Given the description of an element on the screen output the (x, y) to click on. 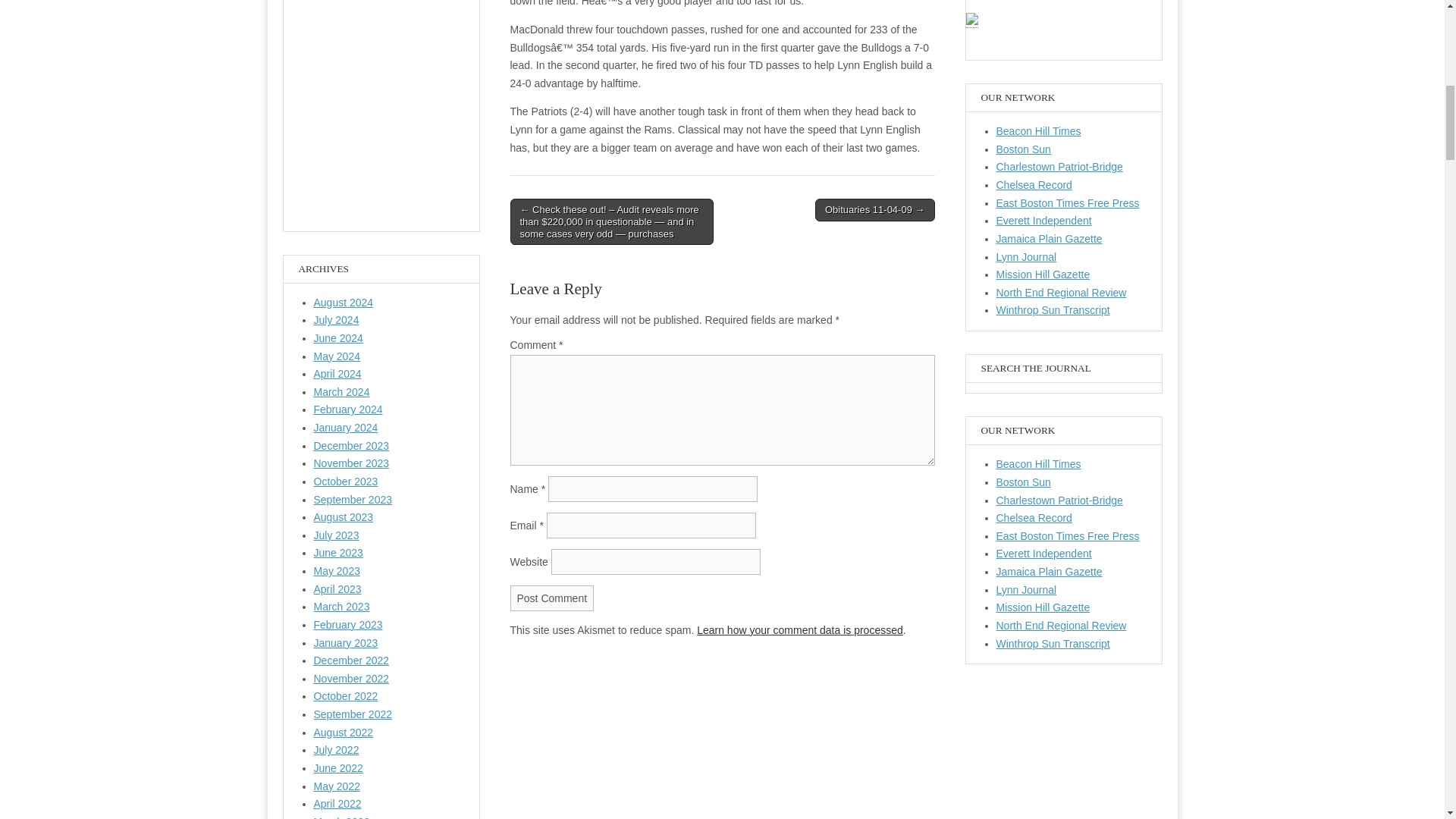
East Boston Times Free Press (1067, 535)
Chelsea Record (1033, 517)
Post Comment (551, 597)
Learn how your comment data is processed (799, 630)
Everett Independent (1043, 553)
Chelsea Record (1033, 184)
Winthrop Sun Transcript (1052, 644)
Everett Independent (1043, 220)
Lynn Journal (1026, 256)
Lynn Journal (1026, 589)
